Given the description of an element on the screen output the (x, y) to click on. 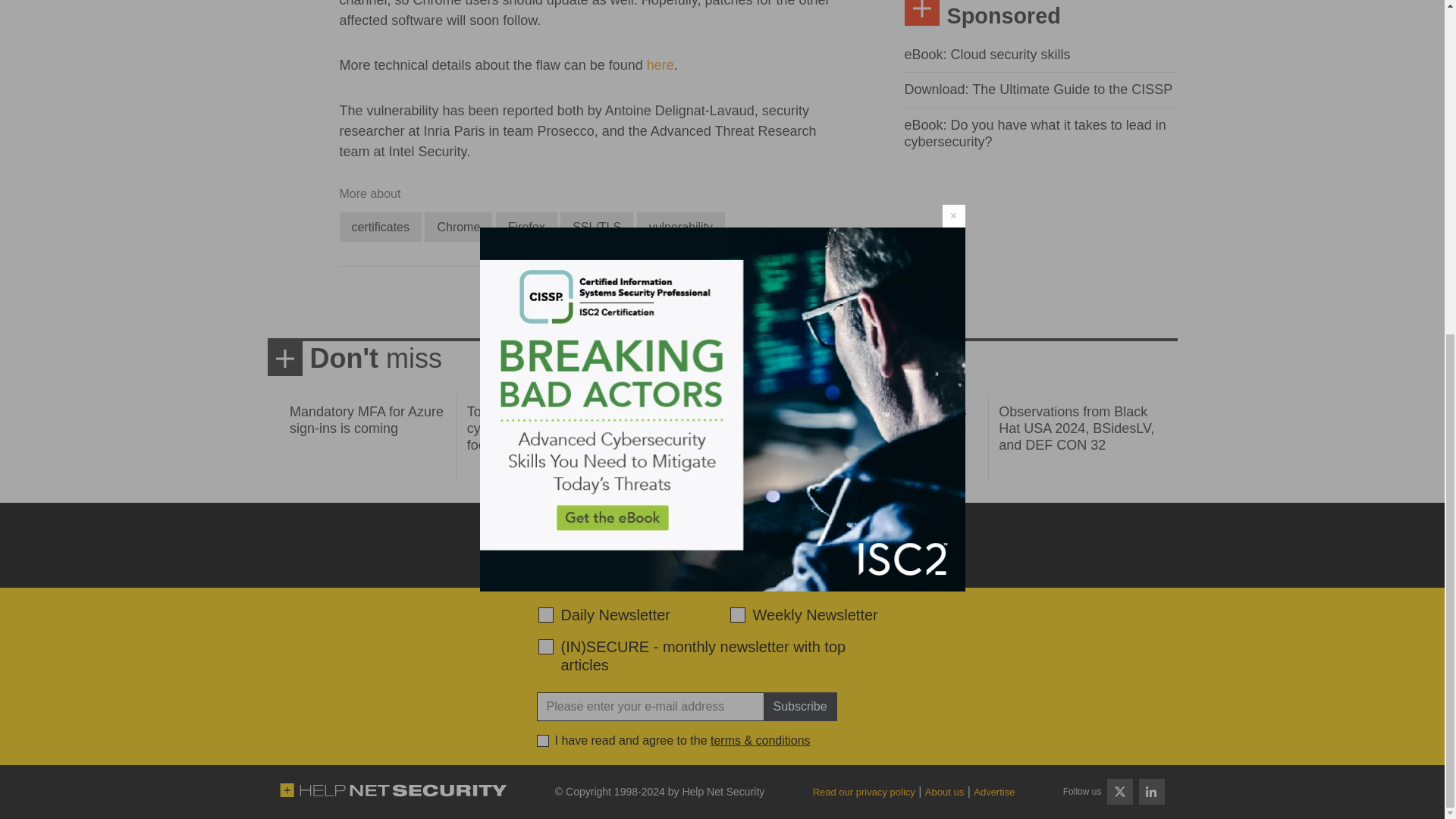
520ac2f639 (545, 614)
1 (542, 740)
certificates (380, 226)
Chrome (458, 226)
vulnerability (681, 226)
here (660, 64)
Firefox (526, 226)
28abe5d9ef (545, 646)
